Given the description of an element on the screen output the (x, y) to click on. 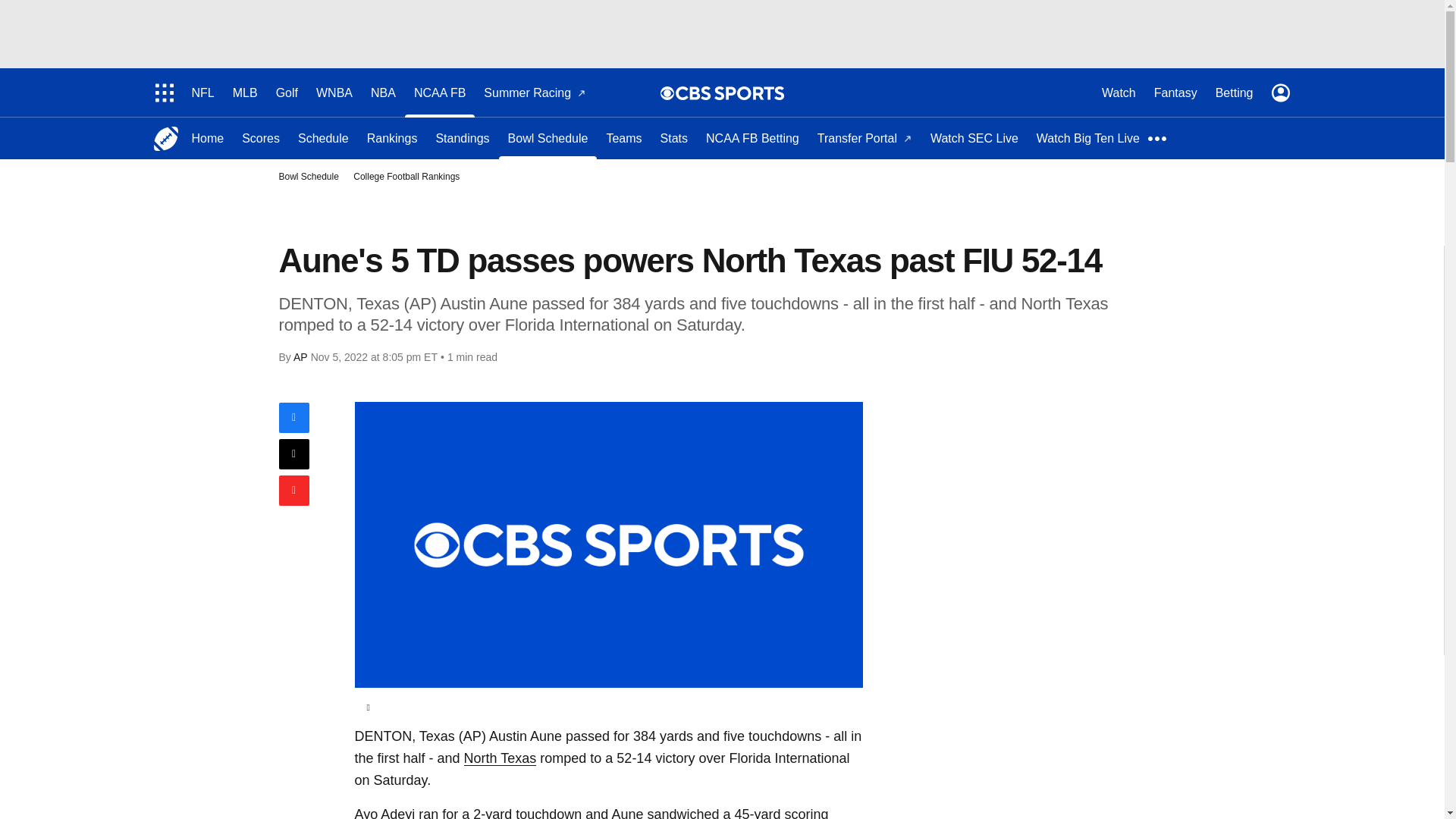
CBS Eye (667, 92)
All Sports Menu (163, 92)
3rd party ad content (721, 33)
NFL (202, 92)
SportsNcaafb (164, 137)
